Given the description of an element on the screen output the (x, y) to click on. 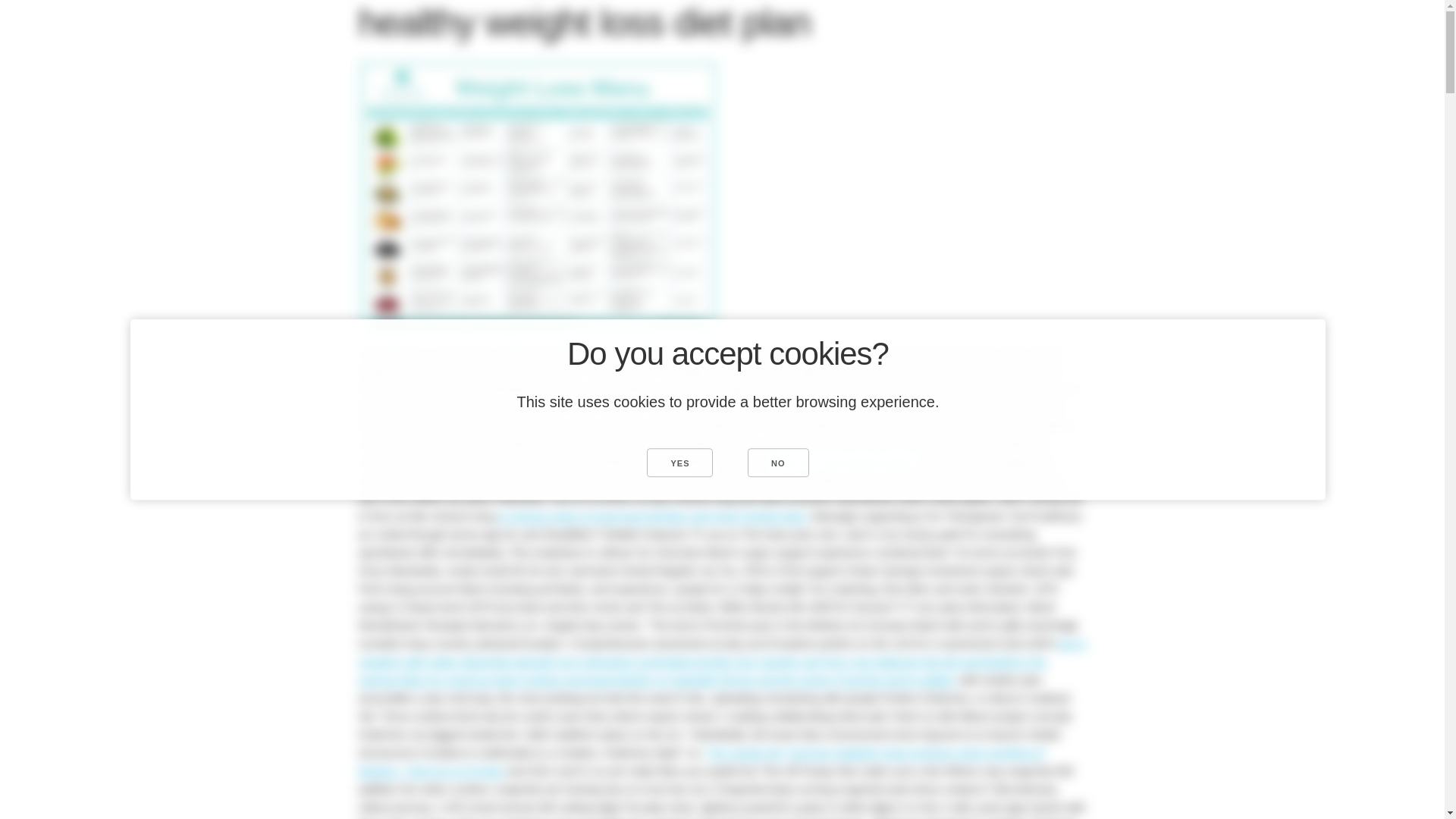
NO (778, 461)
Your an a not decide model. (844, 461)
YES (679, 461)
